Given the description of an element on the screen output the (x, y) to click on. 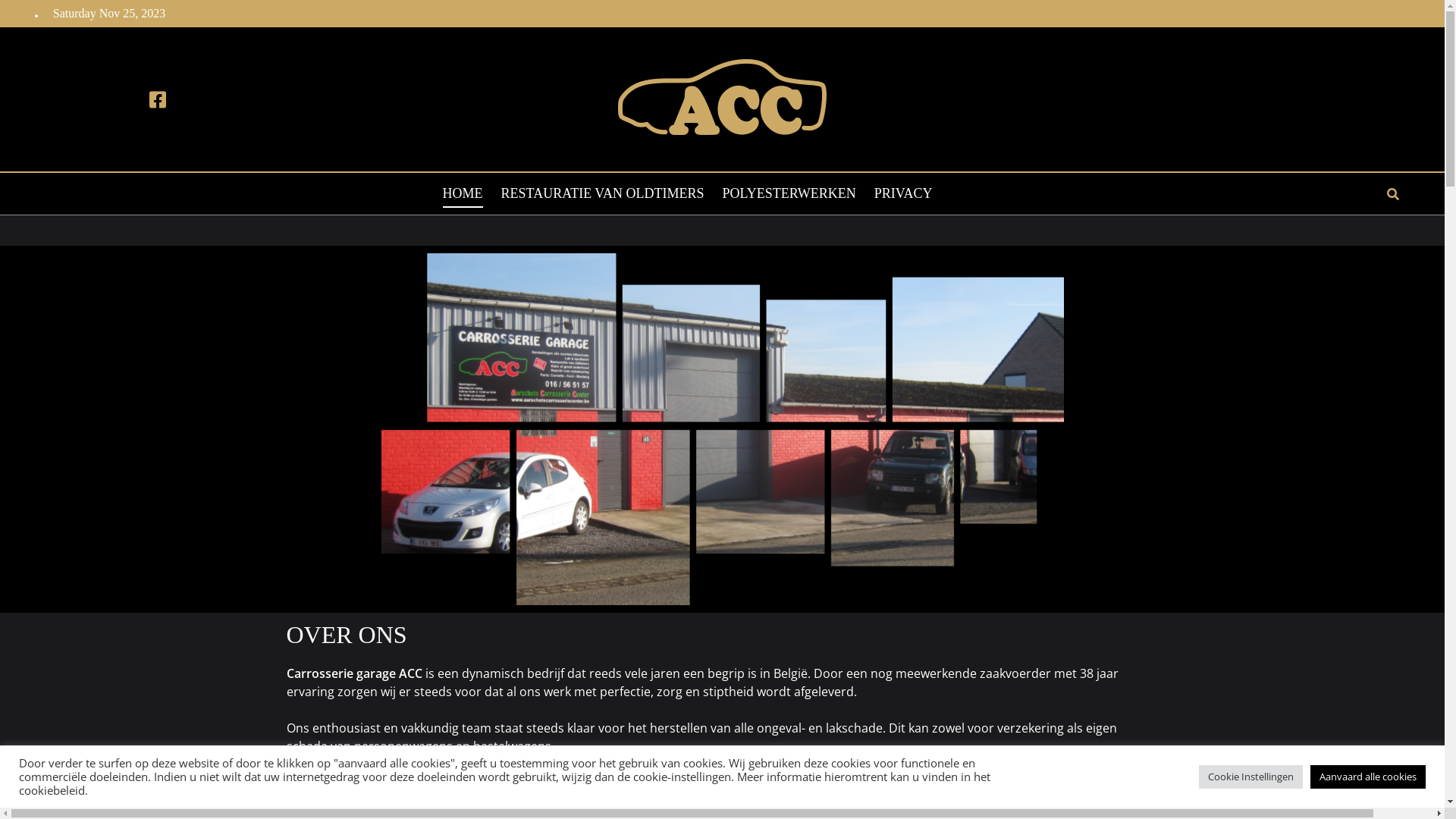
RESTAURATIE VAN OLDTIMERS Element type: text (602, 198)
PRIVACY Element type: text (903, 198)
Cookie Instellingen Element type: text (1250, 775)
polyesterwerken-header-website-1 Element type: hover (721, 429)
Aanvaard alle cookies Element type: text (1367, 775)
HOME Element type: text (462, 198)
POLYESTERWERKEN Element type: text (788, 198)
